Given the description of an element on the screen output the (x, y) to click on. 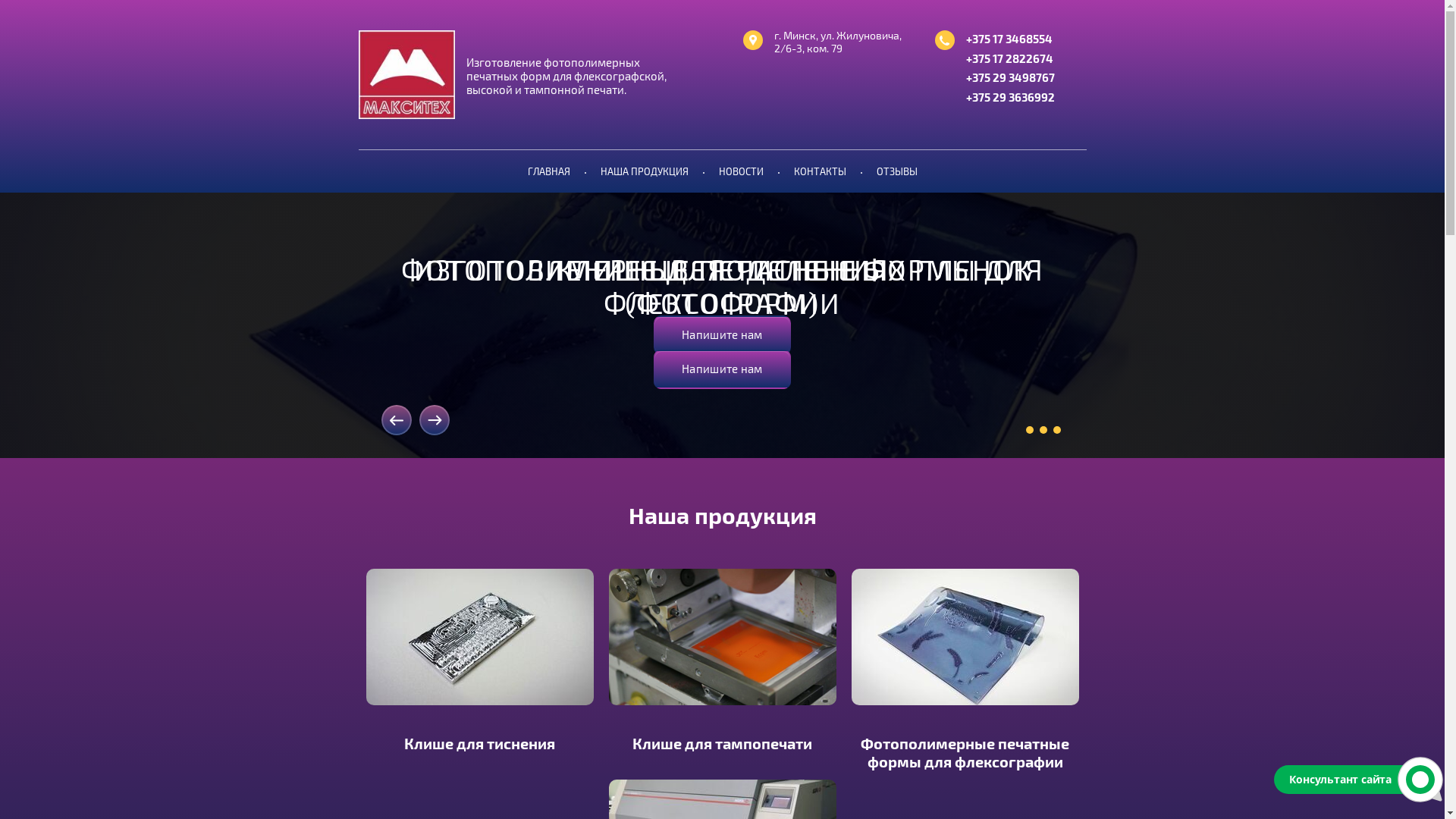
+375 29 3636992 Element type: text (1010, 98)
+375 29 3498767 Element type: text (1010, 78)
+375 17 2822674 Element type: text (1009, 59)
+375 17 3468554 Element type: text (1009, 39)
